Given the description of an element on the screen output the (x, y) to click on. 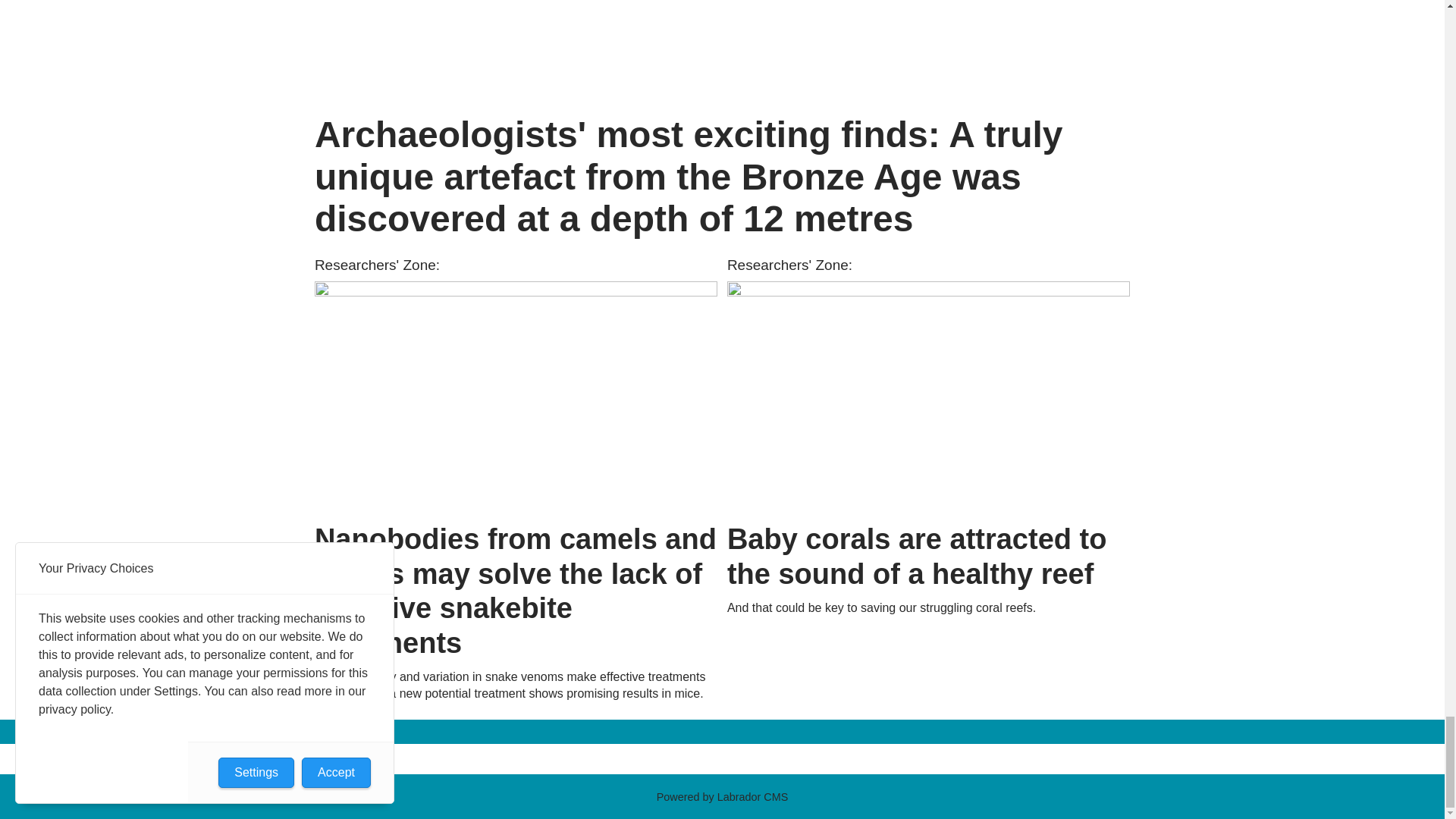
Baby corals are attracted to the sound of a healthy reef (927, 396)
